Given the description of an element on the screen output the (x, y) to click on. 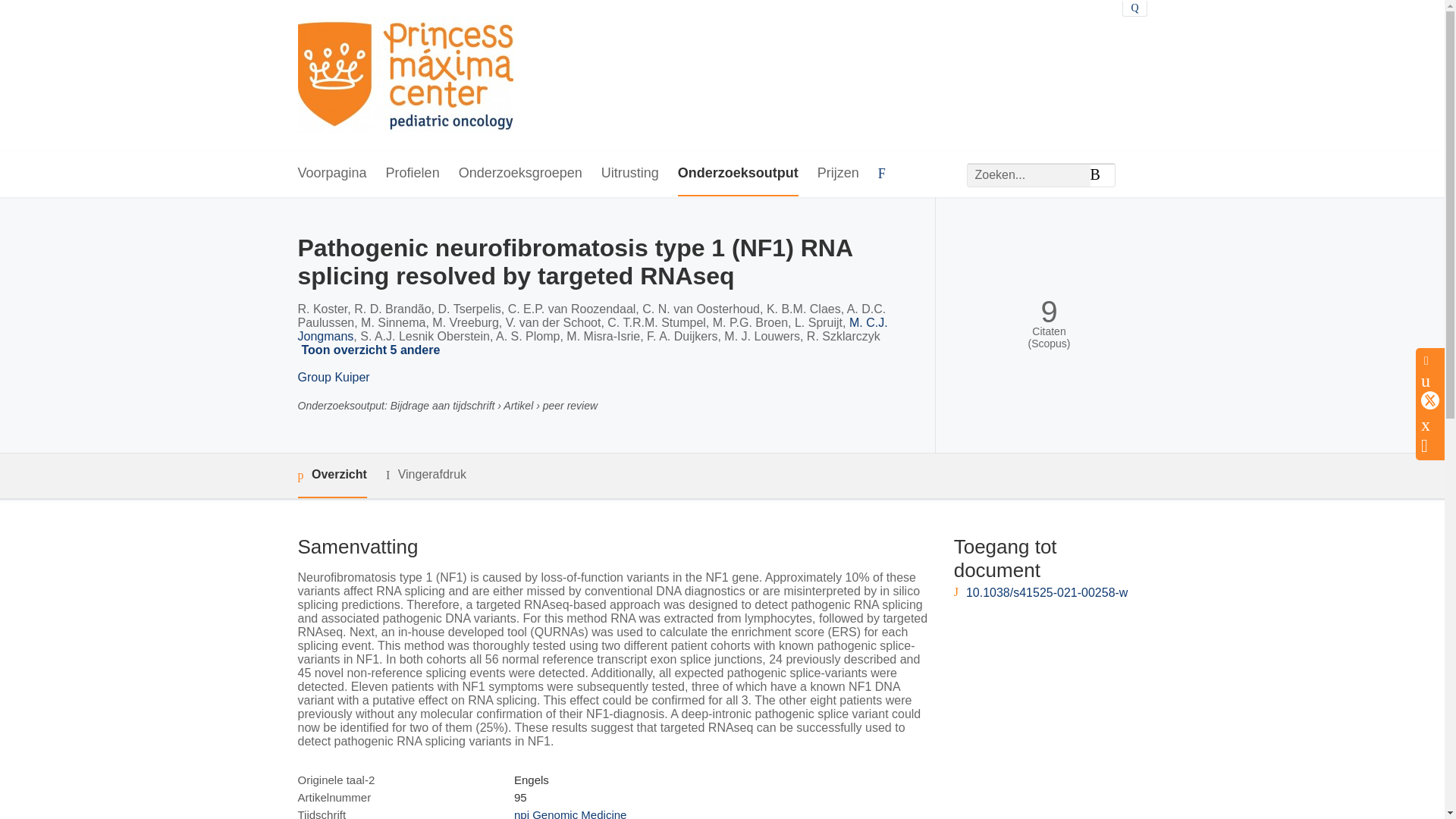
Toon overzicht 5 andere (372, 350)
Overzicht (331, 475)
Prijzen (837, 173)
M. C.J. Jongmans (591, 329)
Group Kuiper (333, 377)
npj Genomic Medicine (569, 813)
Voorpagina (331, 173)
Onderzoeksgroepen (520, 173)
Profielen (412, 173)
